Given the description of an element on the screen output the (x, y) to click on. 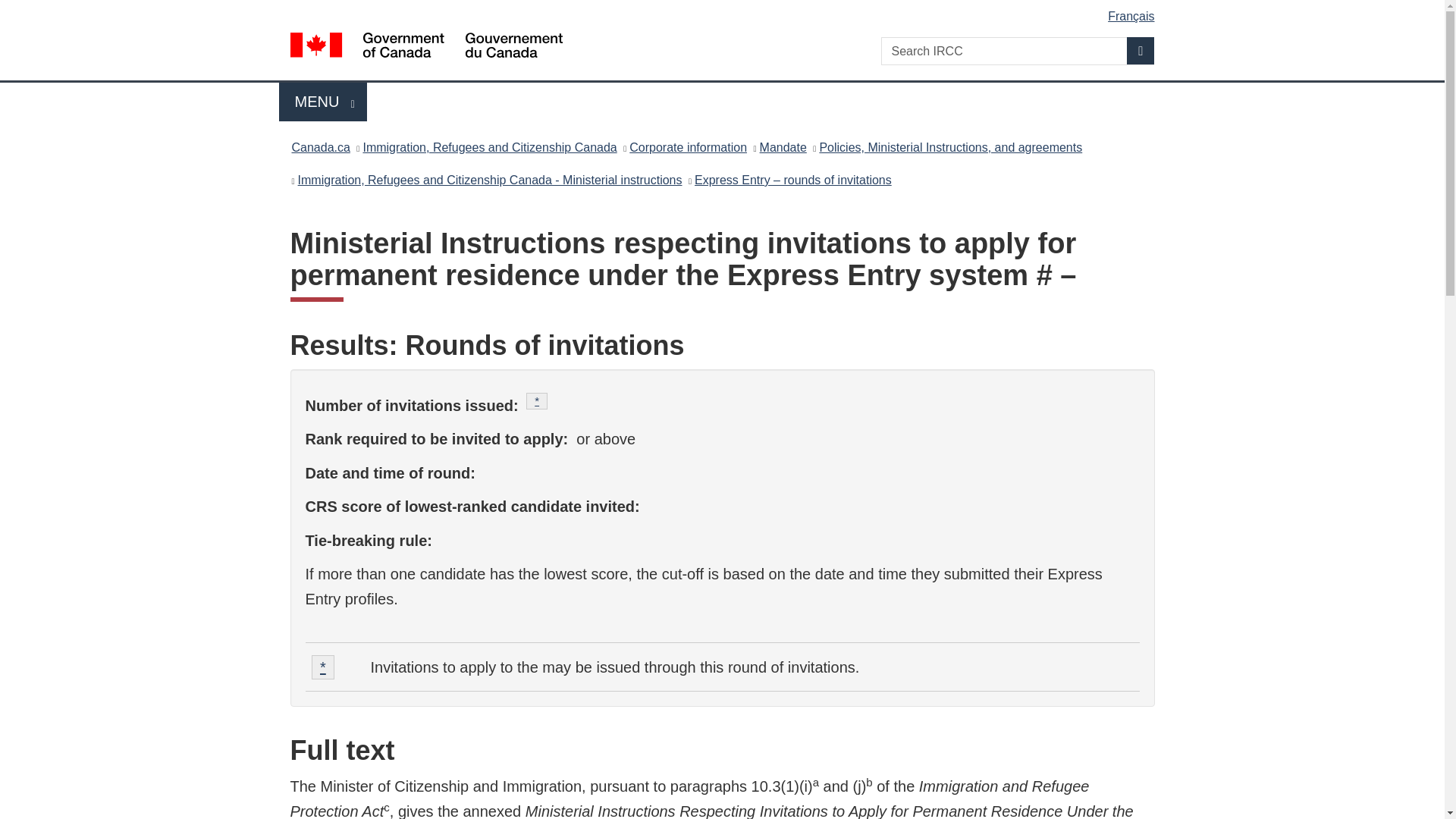
Policies, Ministerial Instructions, and agreements (949, 147)
Immigration, Refugees and Citizenship Canada (488, 147)
Mandate (783, 147)
Canada.ca (320, 147)
Search (1140, 50)
Corporate information (687, 147)
Skip to main content (725, 11)
